Given the description of an element on the screen output the (x, y) to click on. 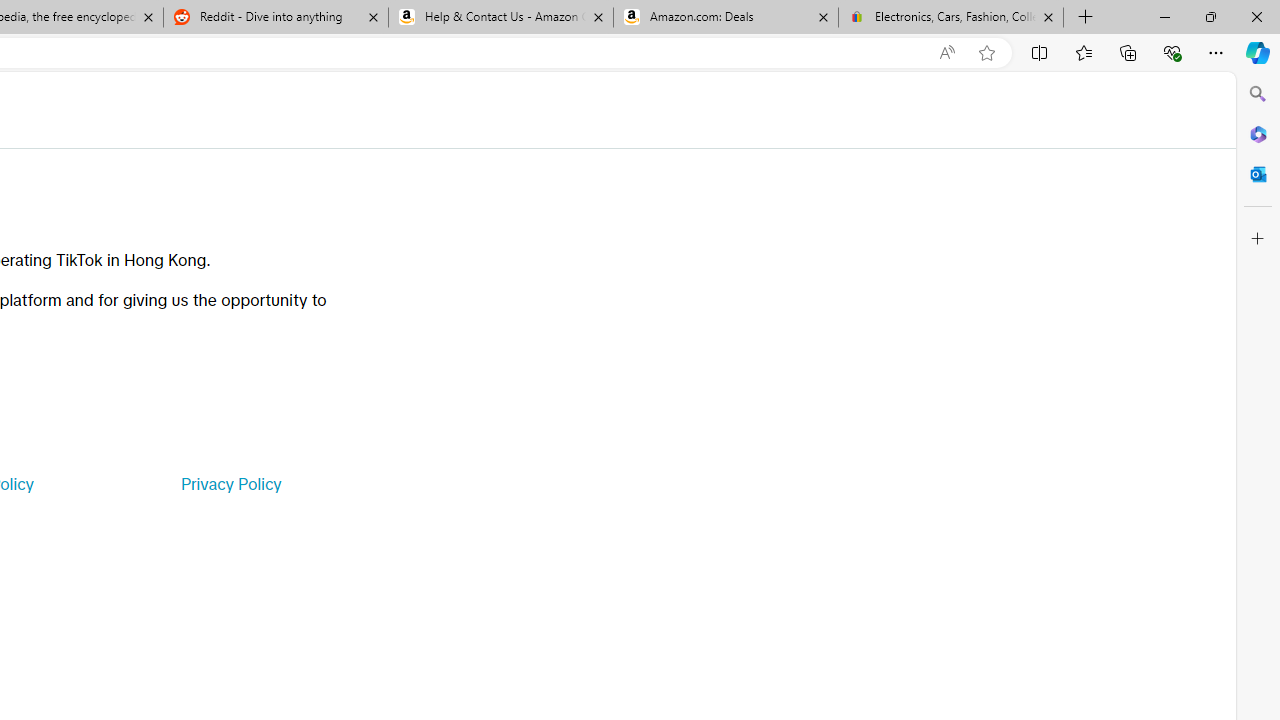
Amazon.com: Deals (726, 17)
Privacy Policy (230, 484)
